Given the description of an element on the screen output the (x, y) to click on. 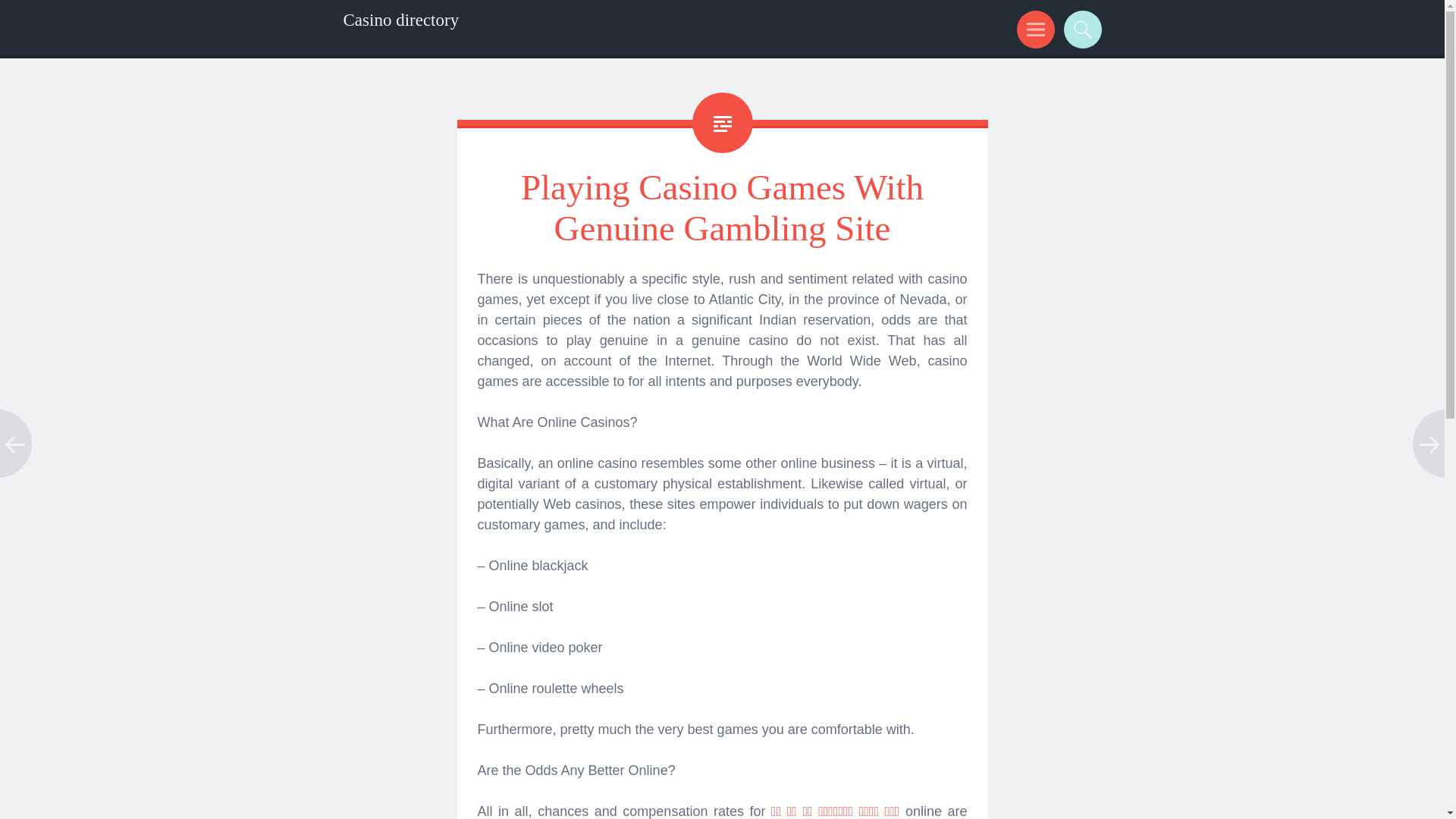
Casino directory (400, 19)
Search (1080, 29)
Menu (1032, 29)
